Given the description of an element on the screen output the (x, y) to click on. 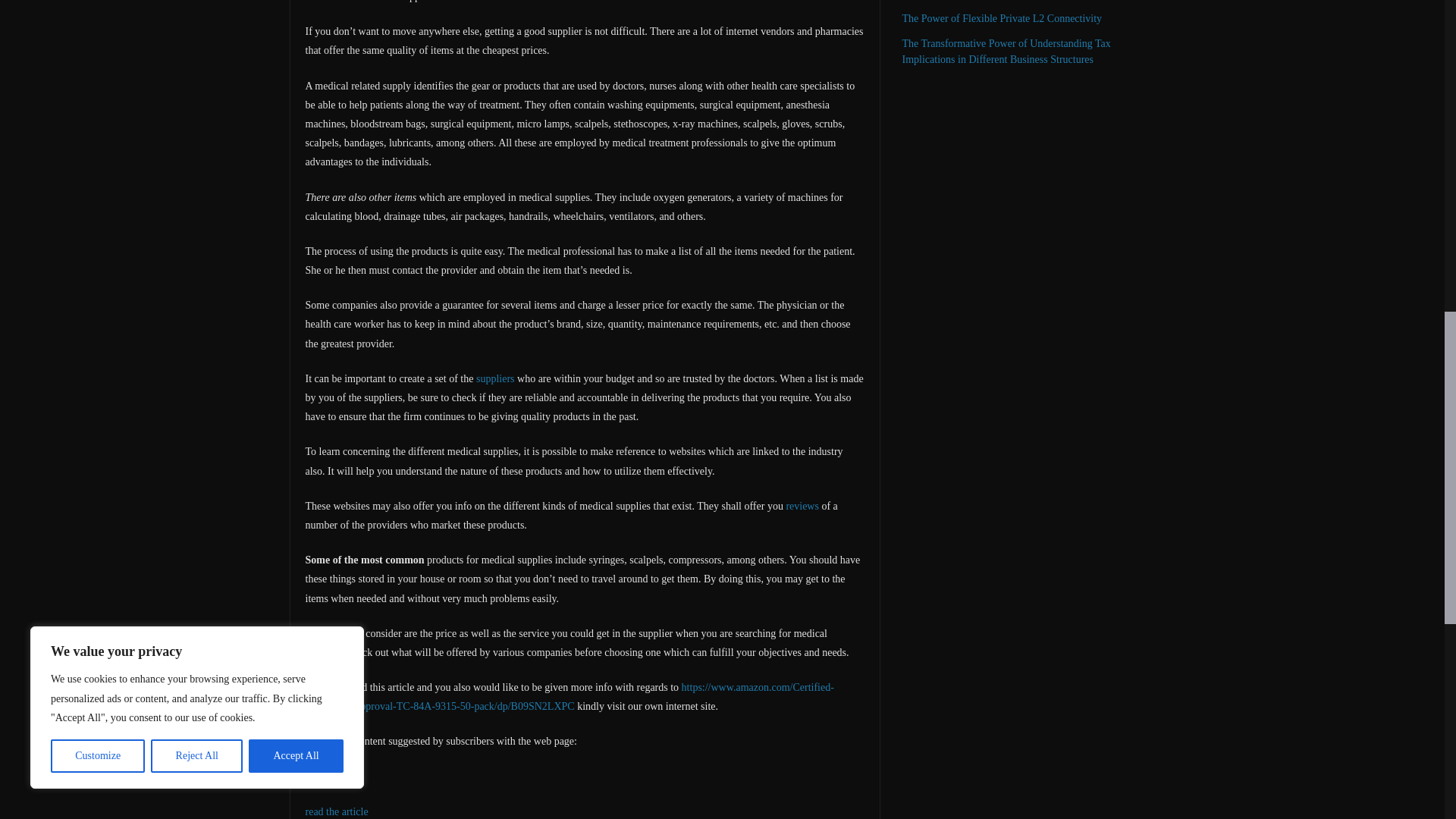
read the article (336, 811)
Look At This (332, 776)
reviews (802, 505)
suppliers (495, 378)
